Given the description of an element on the screen output the (x, y) to click on. 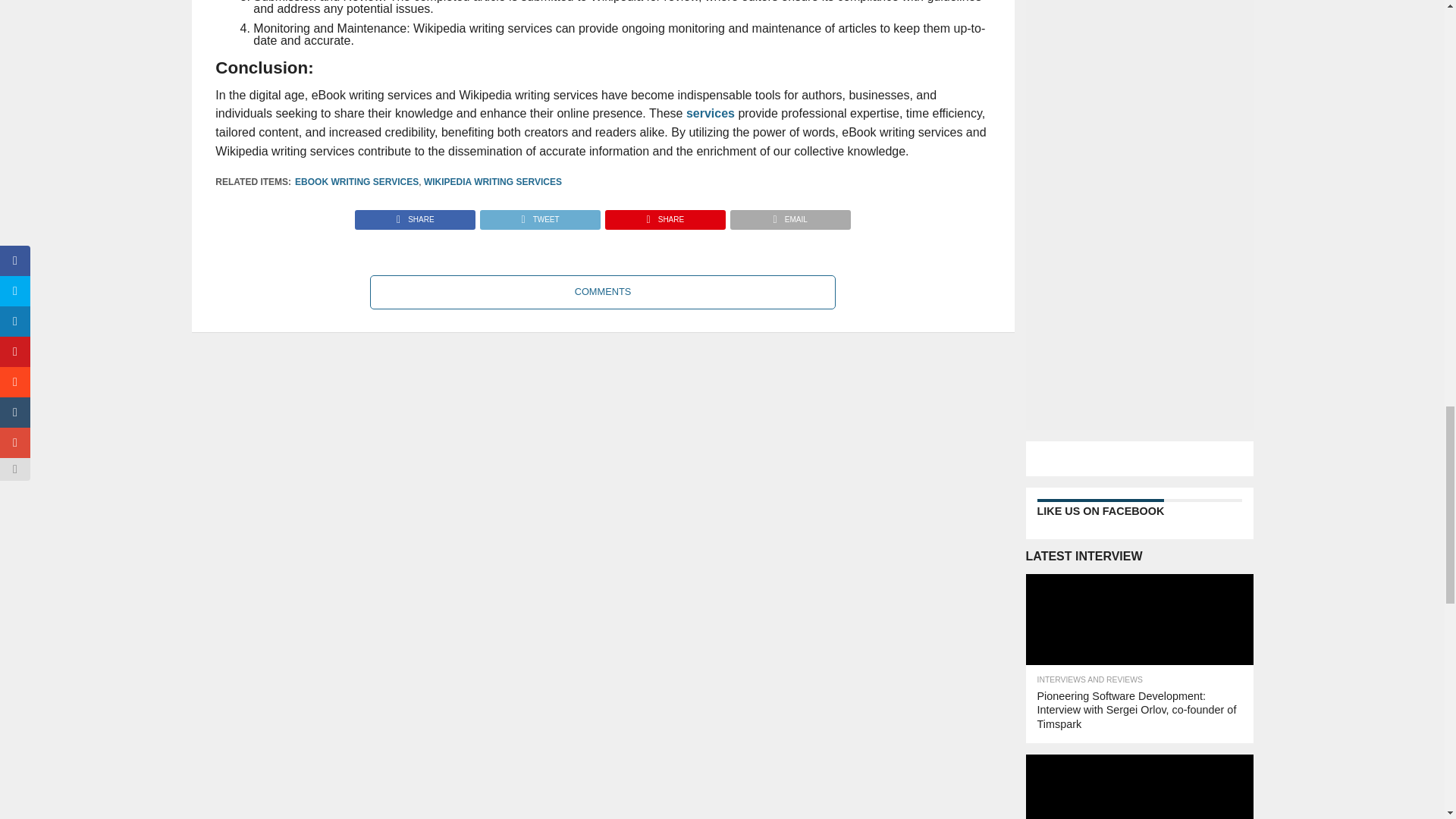
Tweet This Post (539, 215)
Share on Facebook (415, 215)
Pin This Post (664, 215)
